Given the description of an element on the screen output the (x, y) to click on. 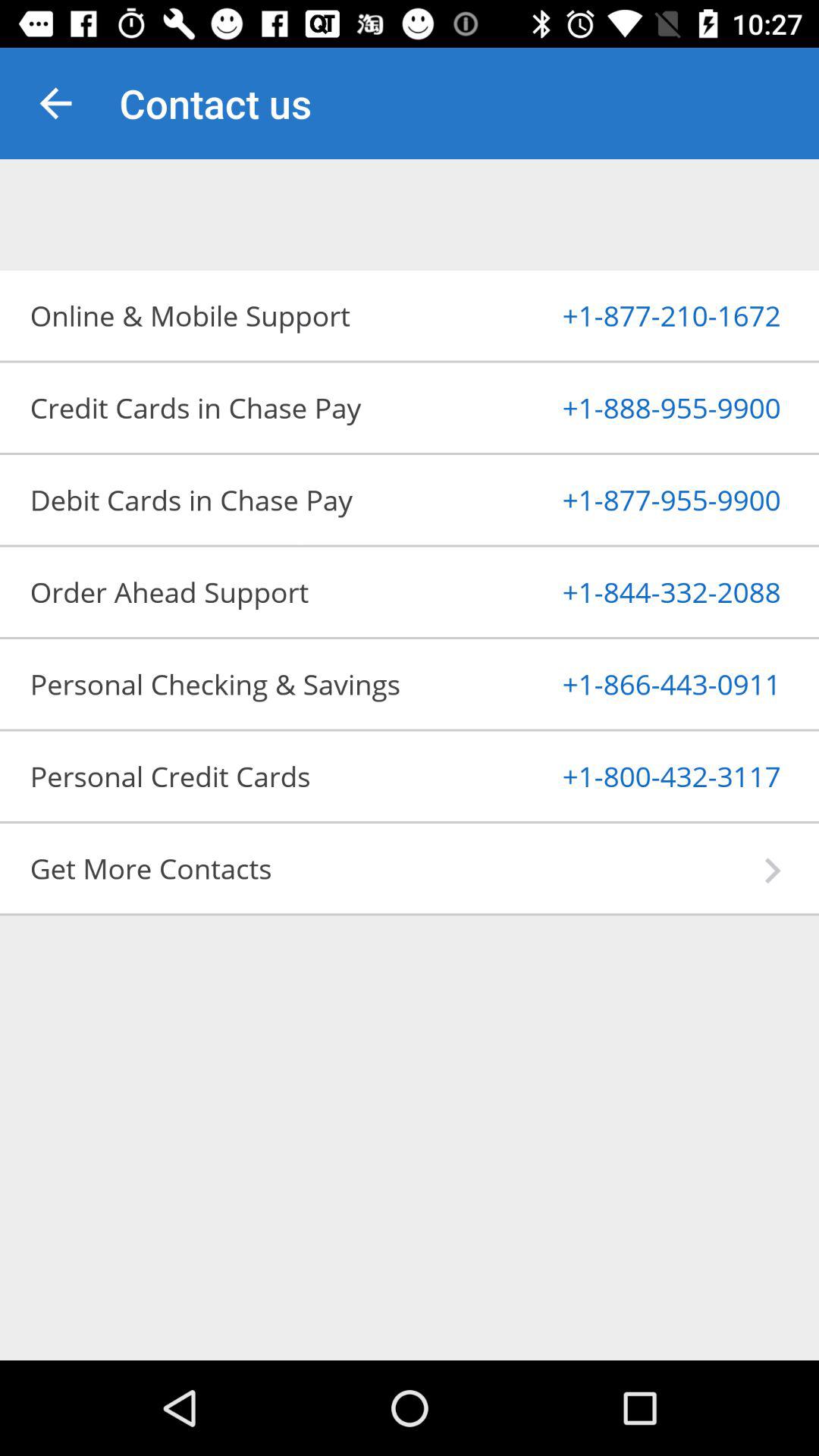
press 1 866 443 icon (634, 683)
